Given the description of an element on the screen output the (x, y) to click on. 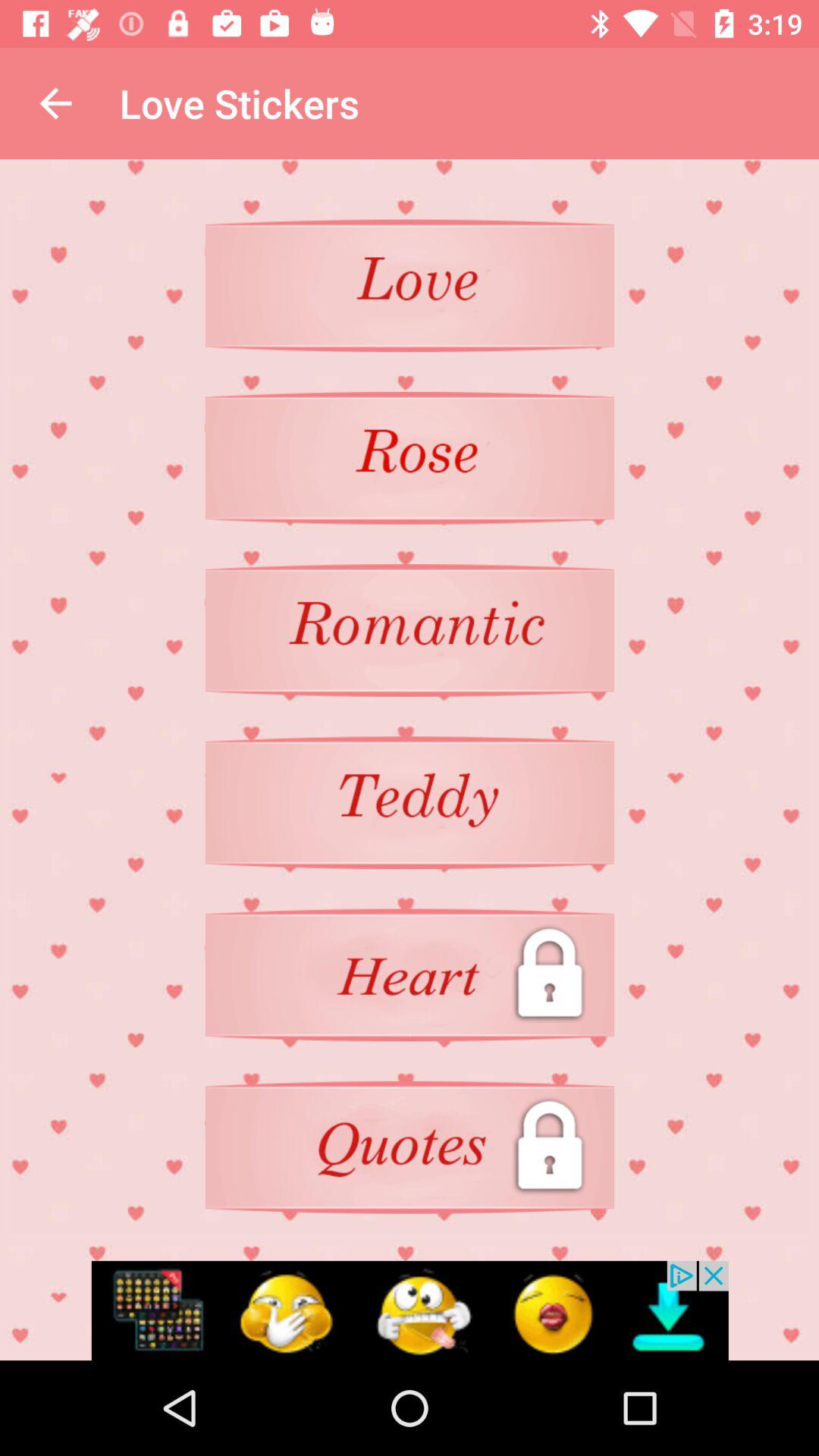
rose\ (409, 457)
